Given the description of an element on the screen output the (x, y) to click on. 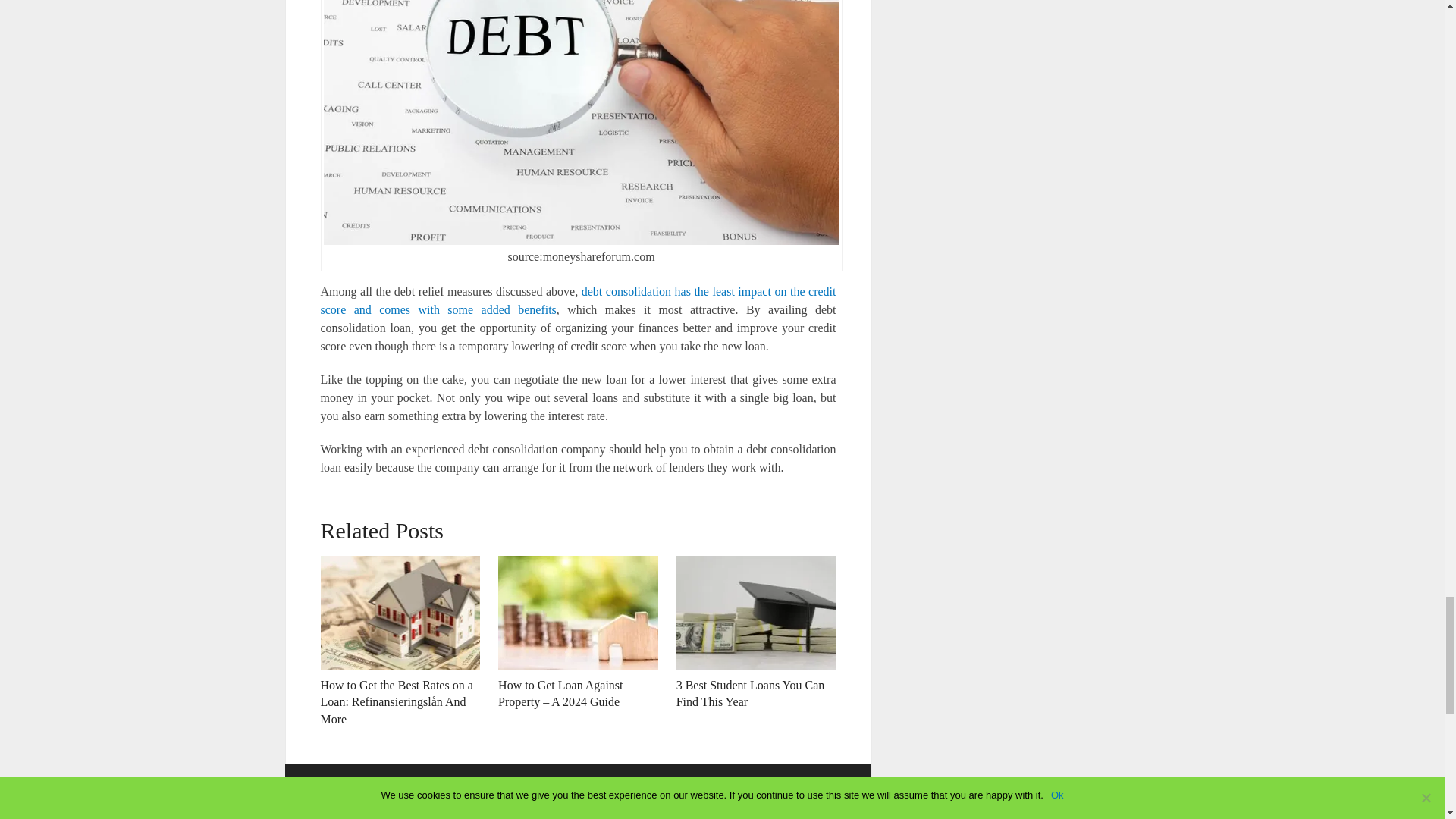
3 Best Student Loans You Can Find This Year (756, 612)
3 Best Student Loans You Can Find This Year (751, 693)
3 Best Student Loans You Can Find This Year (751, 693)
